Given the description of an element on the screen output the (x, y) to click on. 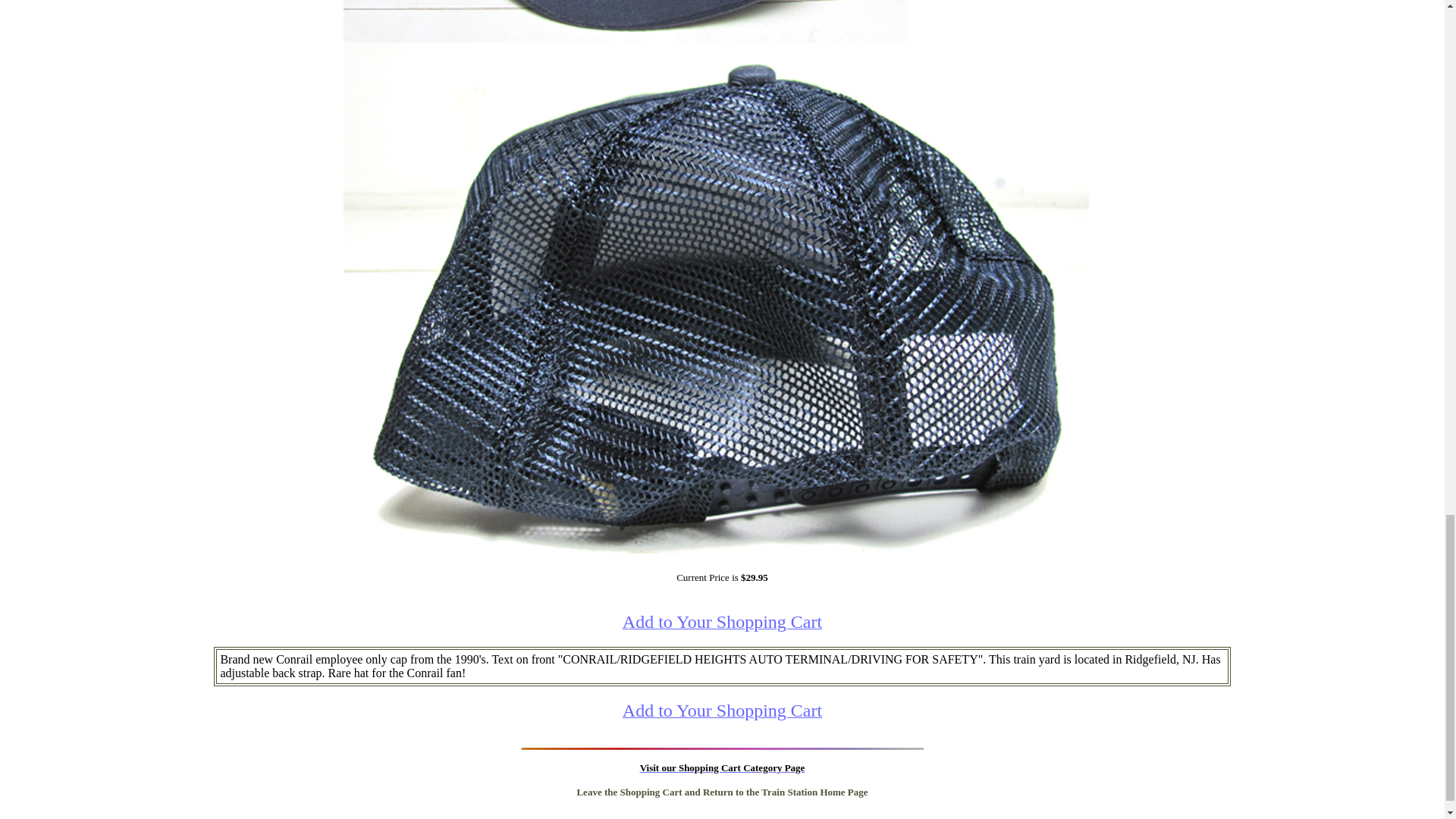
Add to Your Shopping Cart (722, 712)
Add to Your Shopping Cart (722, 623)
Visit our Shopping Cart Category Page (722, 767)
